Given the description of an element on the screen output the (x, y) to click on. 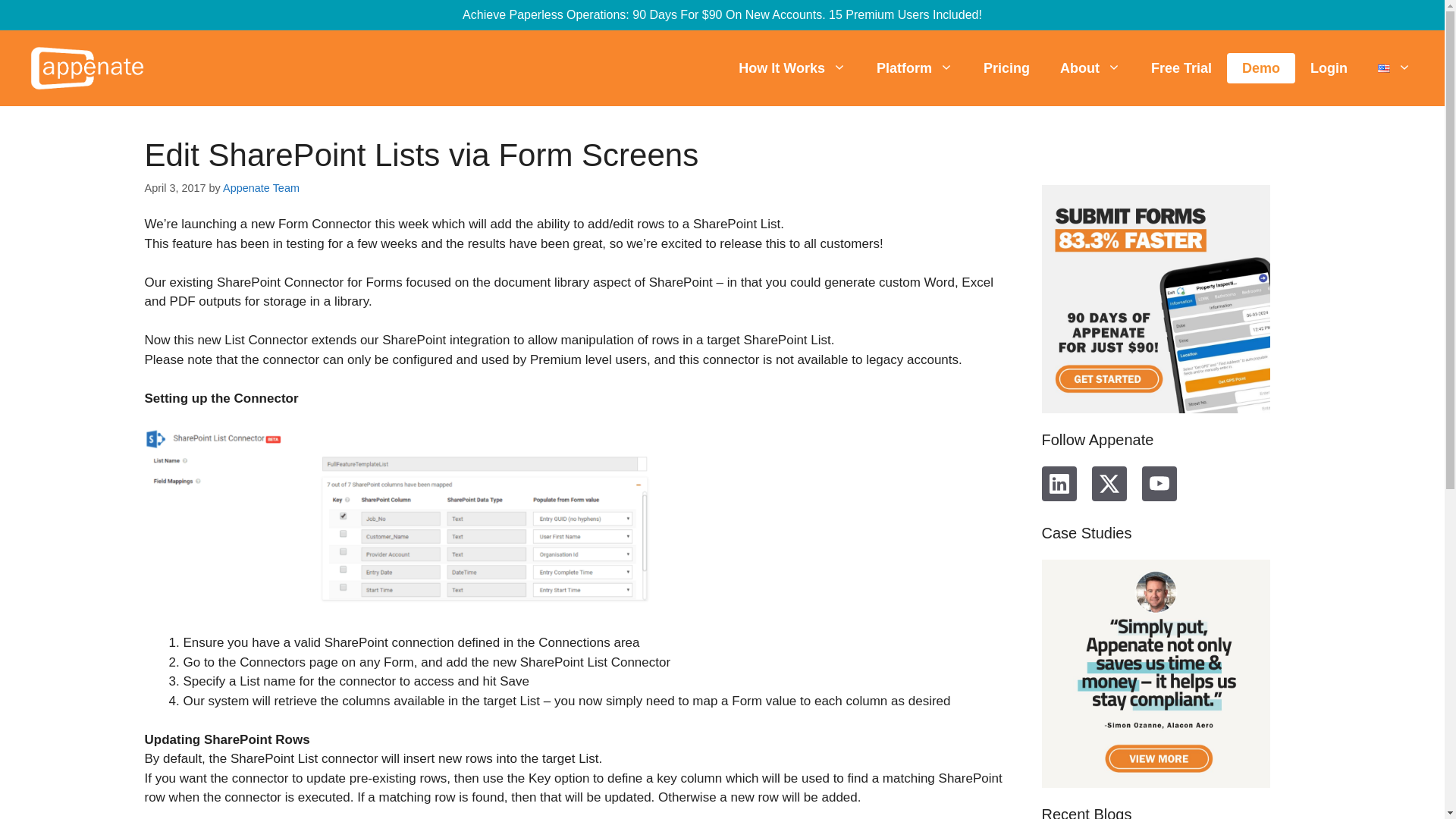
View all posts by Appenate Team (260, 187)
Login (1328, 67)
About (1090, 67)
Free Trial (1181, 67)
Platform (914, 67)
Pricing (1006, 67)
How It Works (792, 67)
Demo (1260, 68)
